Given the description of an element on the screen output the (x, y) to click on. 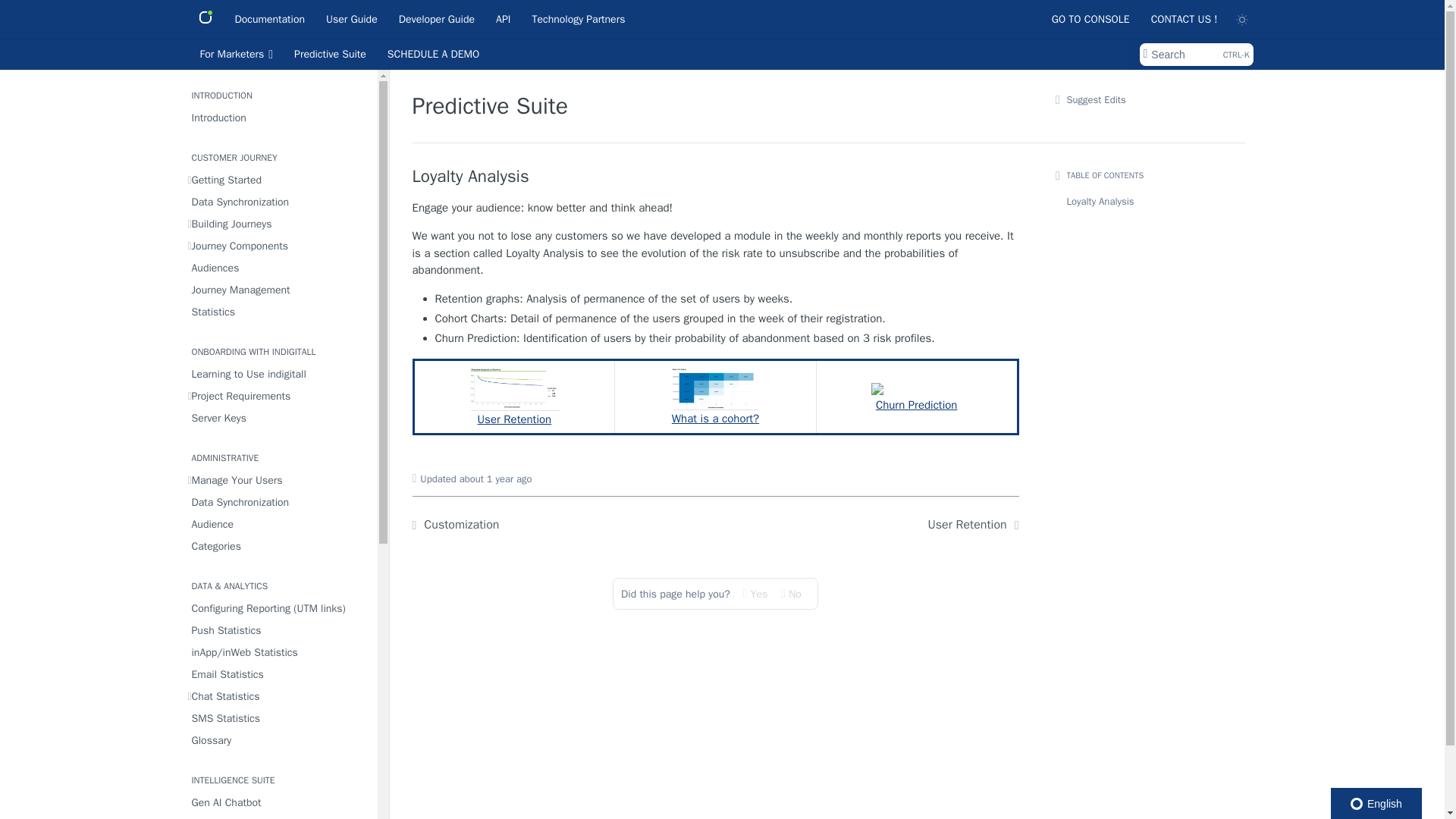
Introduction (277, 117)
Documentation (269, 18)
Building Journeys (277, 223)
For Marketers (235, 54)
Loyalty Analysis (715, 176)
Developer Guide (436, 18)
Technology Partners (577, 18)
CONTACT US ! (1183, 18)
Getting Started (277, 179)
API (502, 18)
